Given the description of an element on the screen output the (x, y) to click on. 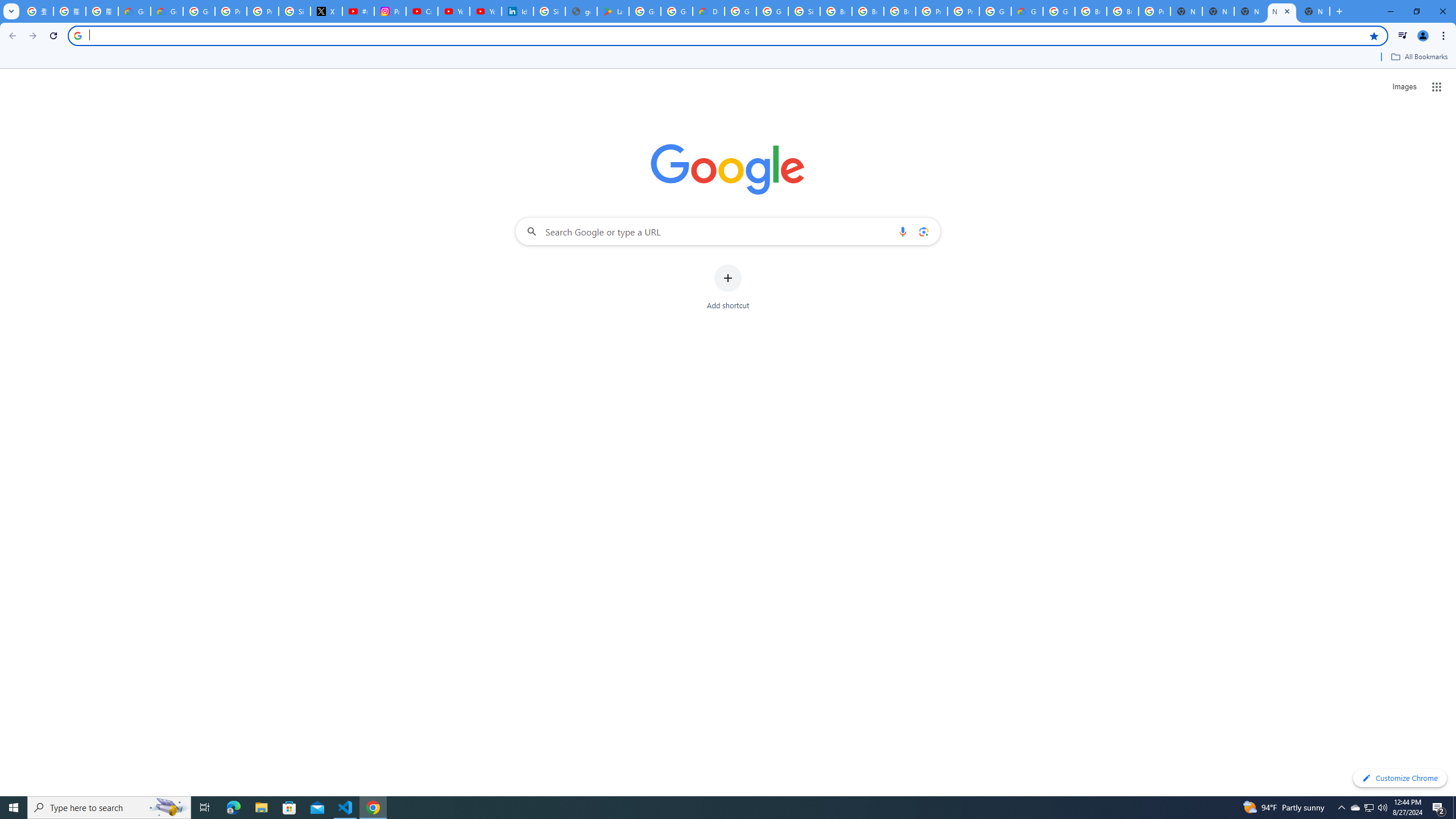
Sign in - Google Accounts (549, 11)
Google apps (1436, 86)
Add shortcut (727, 287)
Browse Chrome as a guest - Computer - Google Chrome Help (1123, 11)
Customize Chrome (1399, 778)
Browse Chrome as a guest - Computer - Google Chrome Help (836, 11)
Search icon (77, 35)
